Given the description of an element on the screen output the (x, y) to click on. 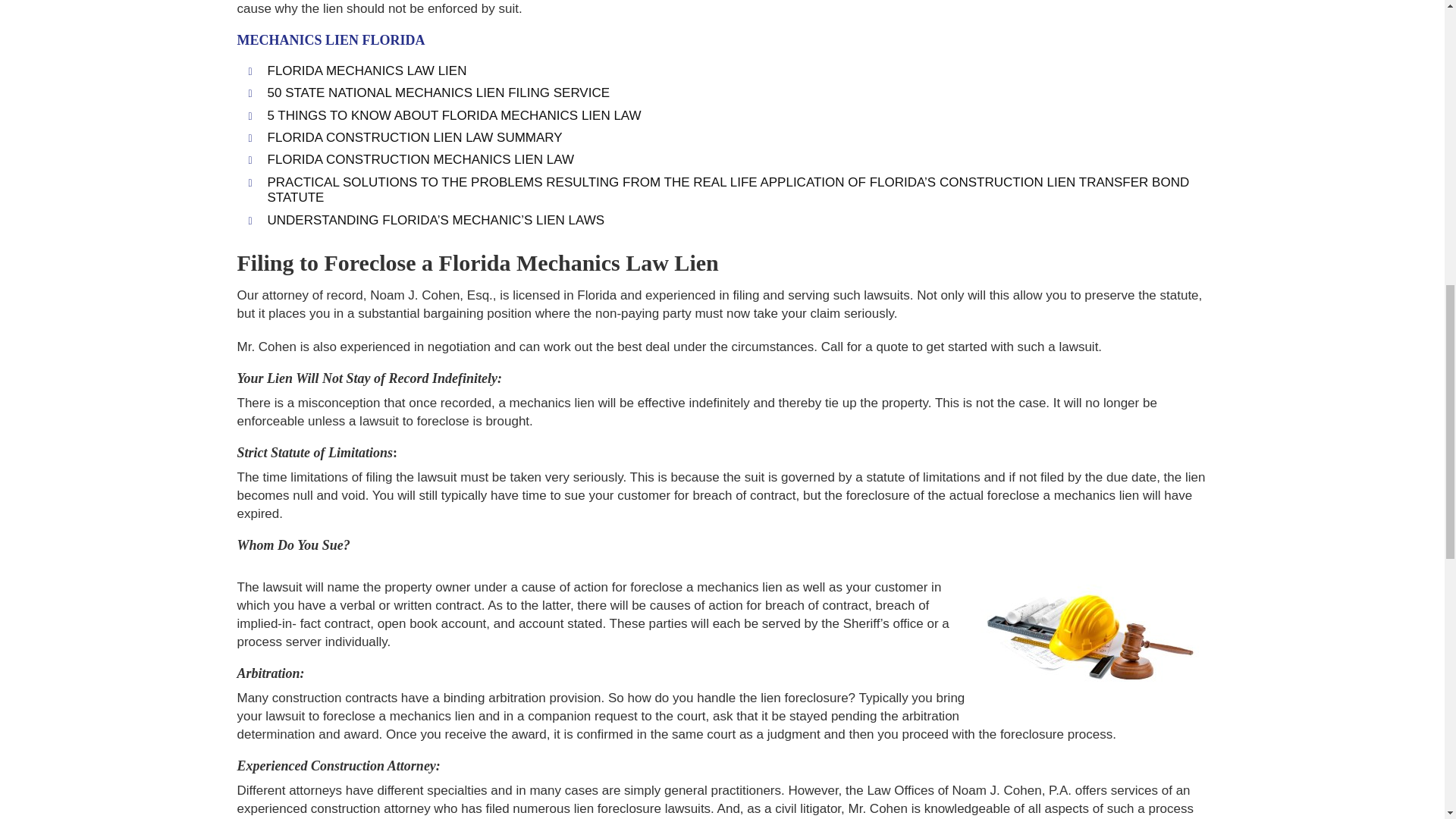
MECHANICS LIEN FLORIDA (330, 39)
FLORIDA MECHANICS LAW LIEN (365, 70)
FLORIDA CONSTRUCTION LIEN LAW SUMMARY (414, 137)
50 STATE NATIONAL MECHANICS LIEN FILING SERVICE (438, 92)
5 THINGS TO KNOW ABOUT FLORIDA MECHANICS LIEN LAW (453, 115)
FLORIDA CONSTRUCTION MECHANICS LIEN LAW (419, 159)
